Given the description of an element on the screen output the (x, y) to click on. 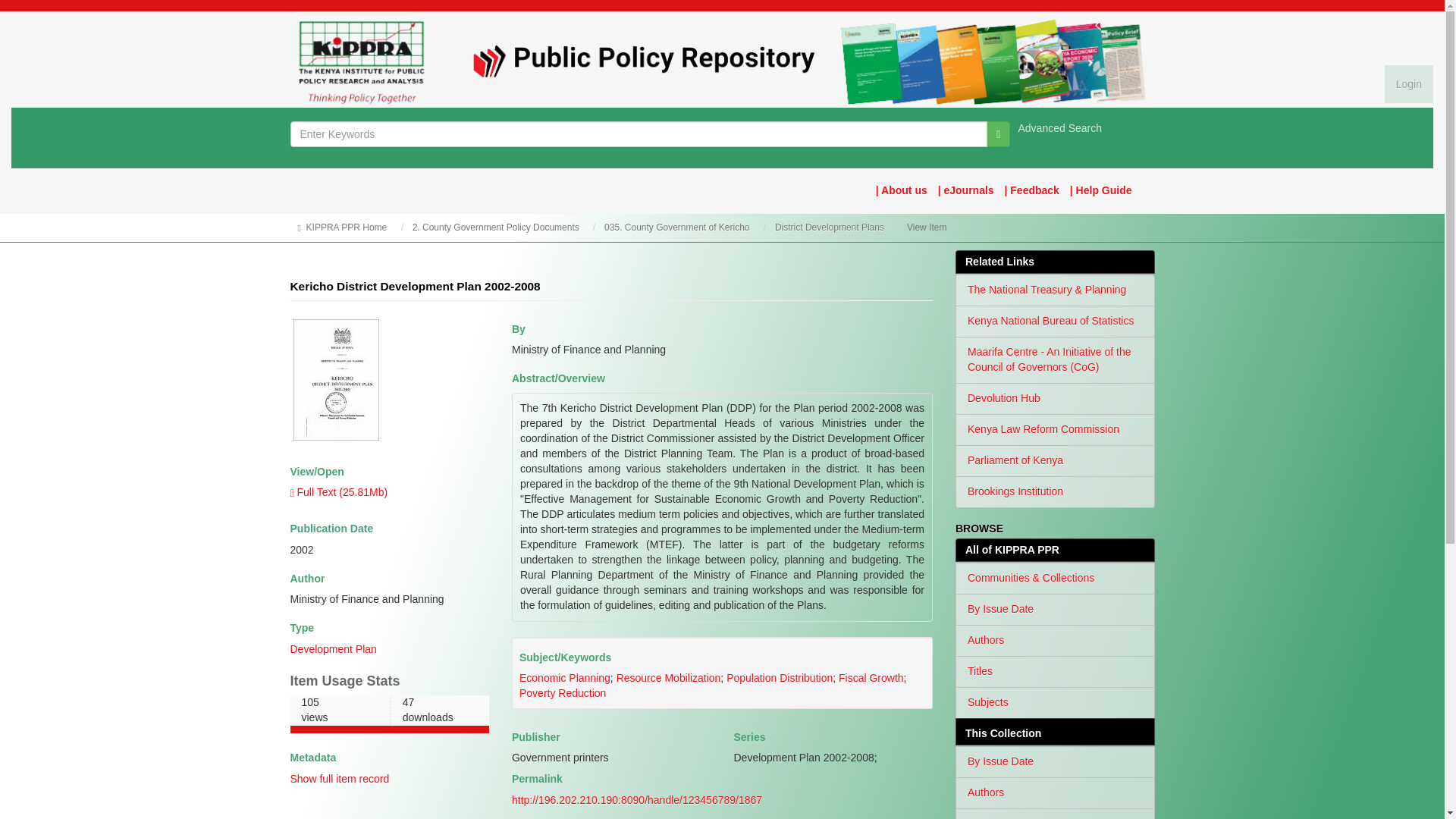
Go (998, 134)
Show full item record (338, 778)
Population Distribution (779, 677)
Fiscal Growth (871, 677)
Advanced Search (1059, 128)
Resource Mobilization (667, 677)
Kenya National Bureau of Statistics (1054, 321)
District Development Plans (828, 226)
Related Links (1054, 261)
Poverty Reduction (562, 693)
2. County Government Policy Documents (495, 226)
Economic Planning (564, 677)
Login (1408, 84)
KIPPRA PPR Home (346, 226)
